Given the description of an element on the screen output the (x, y) to click on. 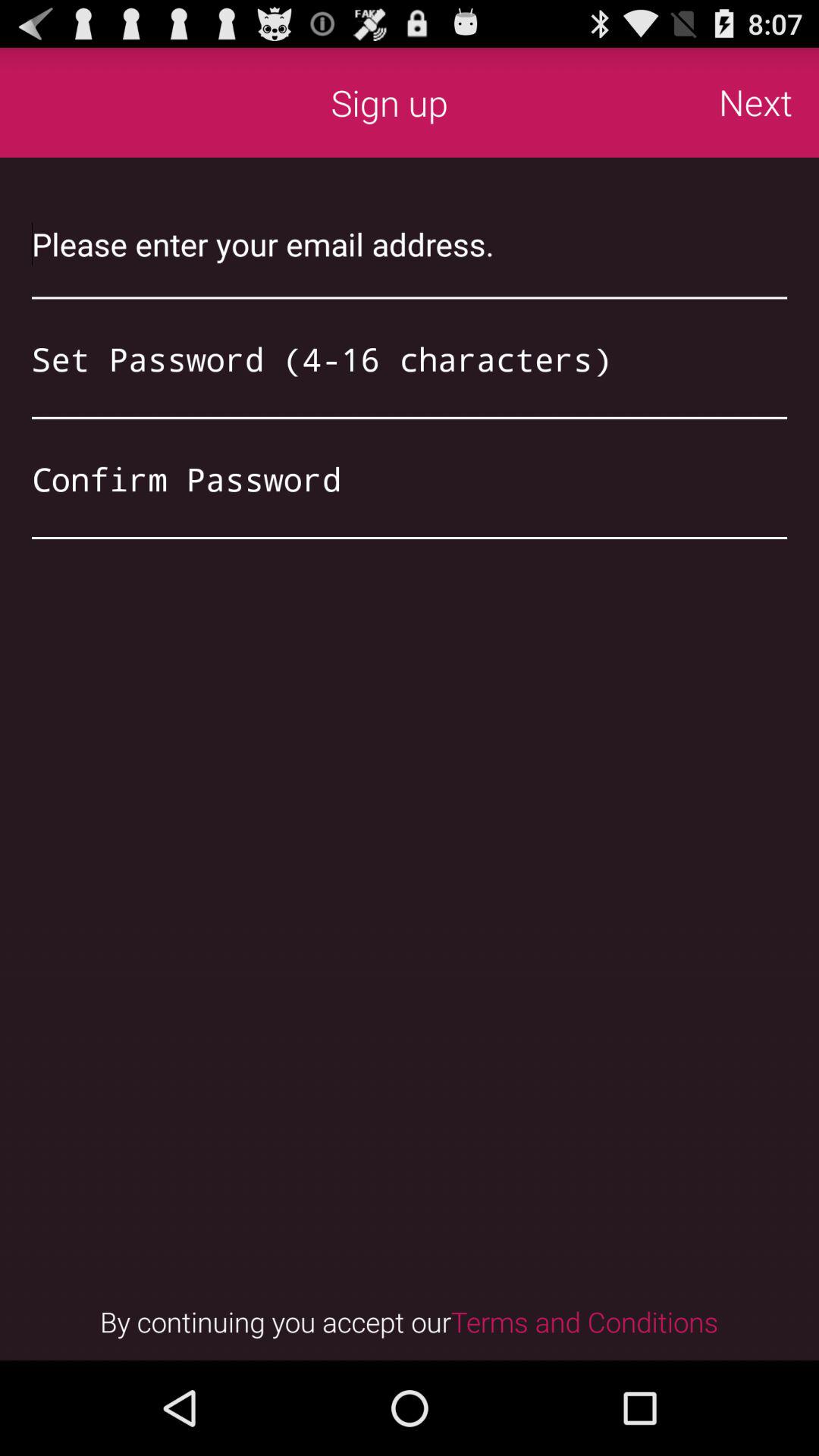
password (409, 358)
